Given the description of an element on the screen output the (x, y) to click on. 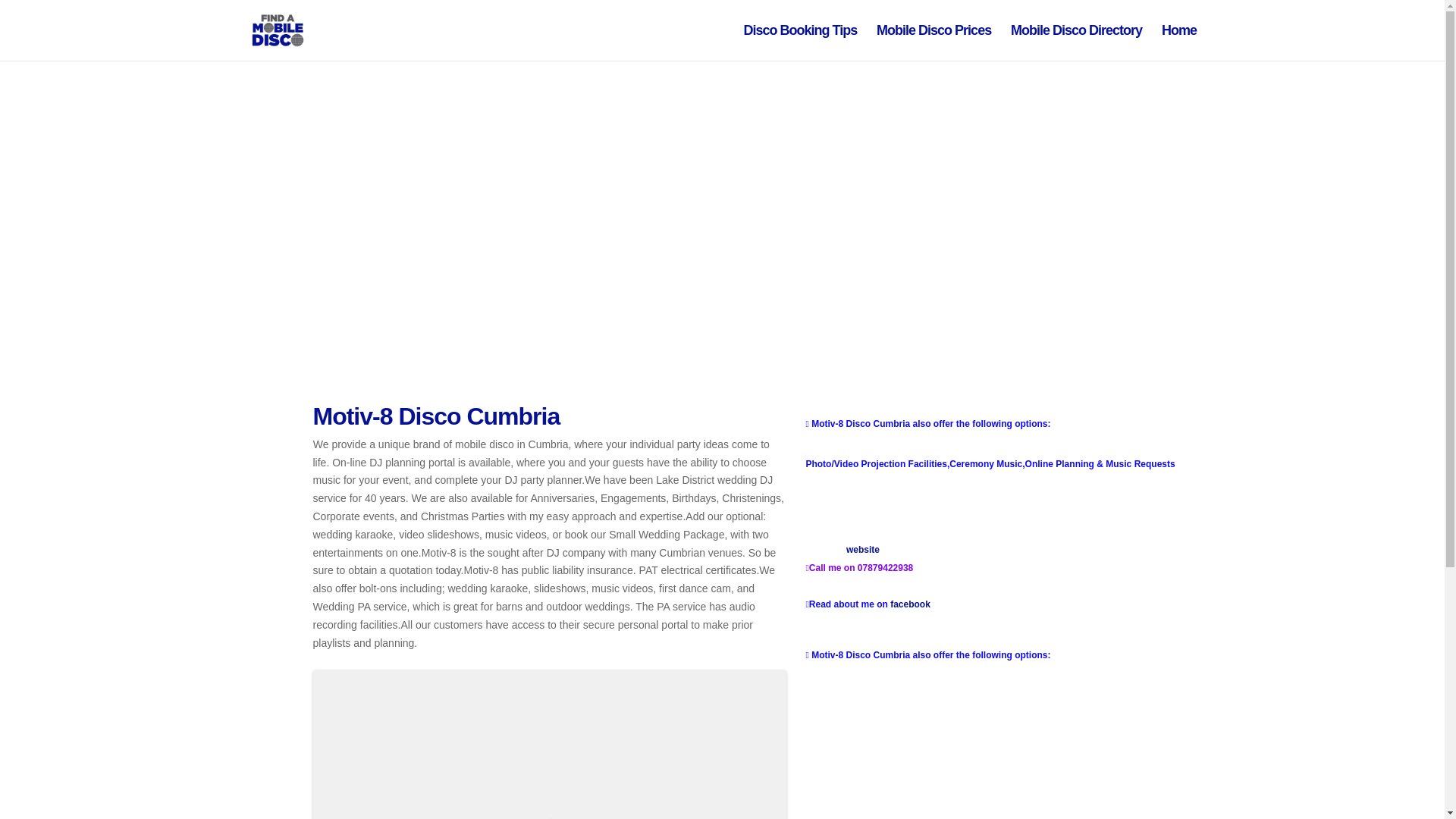
Motiv-8 Disco Cumbria (436, 415)
Disco Booking Tips (800, 42)
Visit my website (842, 549)
View: Motiv-8 Disco Cumbria (436, 415)
Call me on 07879422938 (859, 567)
Motiv-8 Disco Cumbria also offer the following options: (928, 423)
Mobile Disco Prices (933, 42)
Home (1178, 42)
facebook (909, 603)
Mobile Disco Directory (1075, 42)
